Given the description of an element on the screen output the (x, y) to click on. 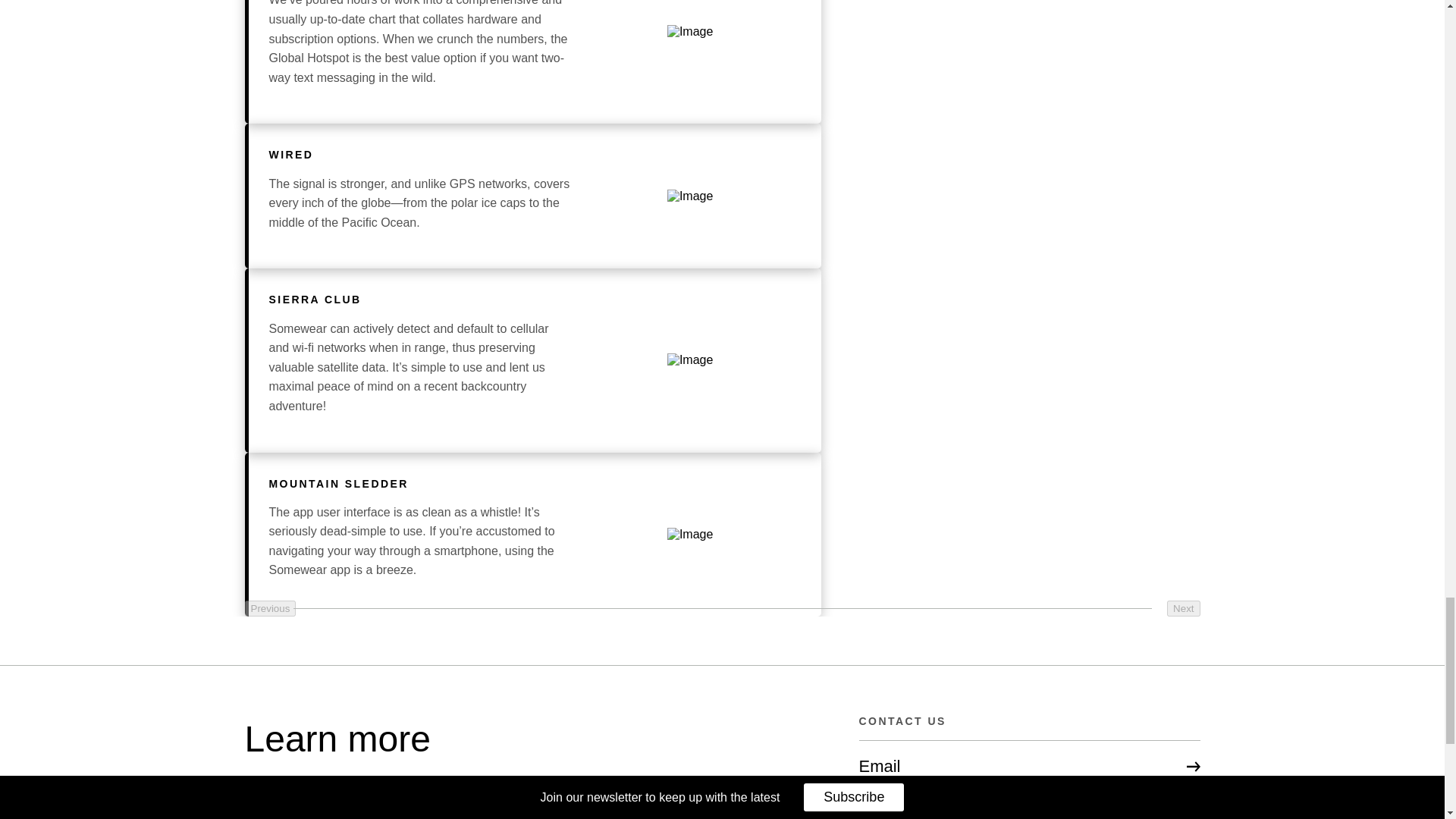
Sign up for updates (1029, 805)
Previous (269, 608)
Next (1183, 608)
Email (1029, 765)
